Given the description of an element on the screen output the (x, y) to click on. 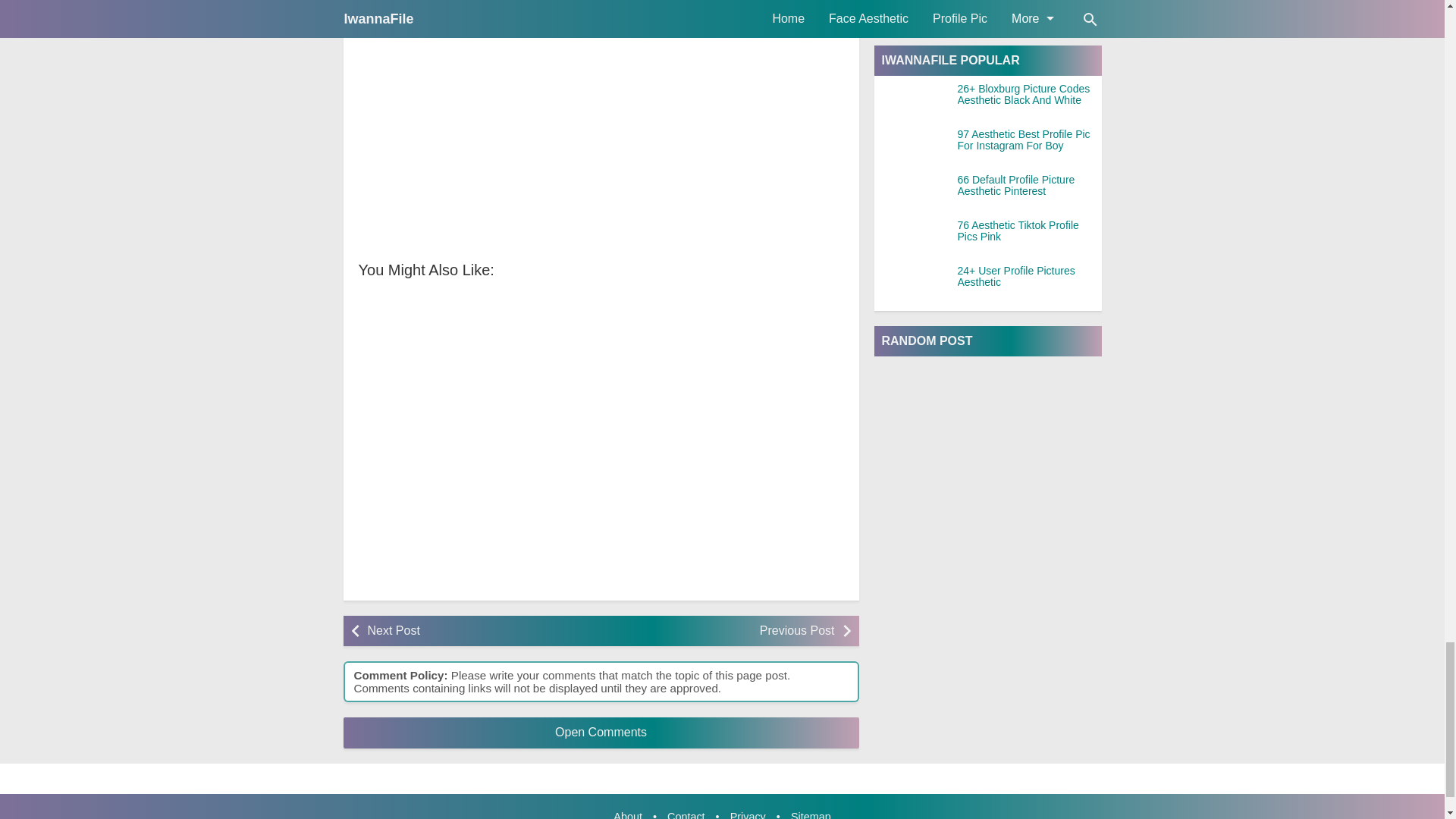
Next Post (479, 631)
Older Post (721, 631)
Newer Post (479, 631)
Previous Post (721, 631)
